Given the description of an element on the screen output the (x, y) to click on. 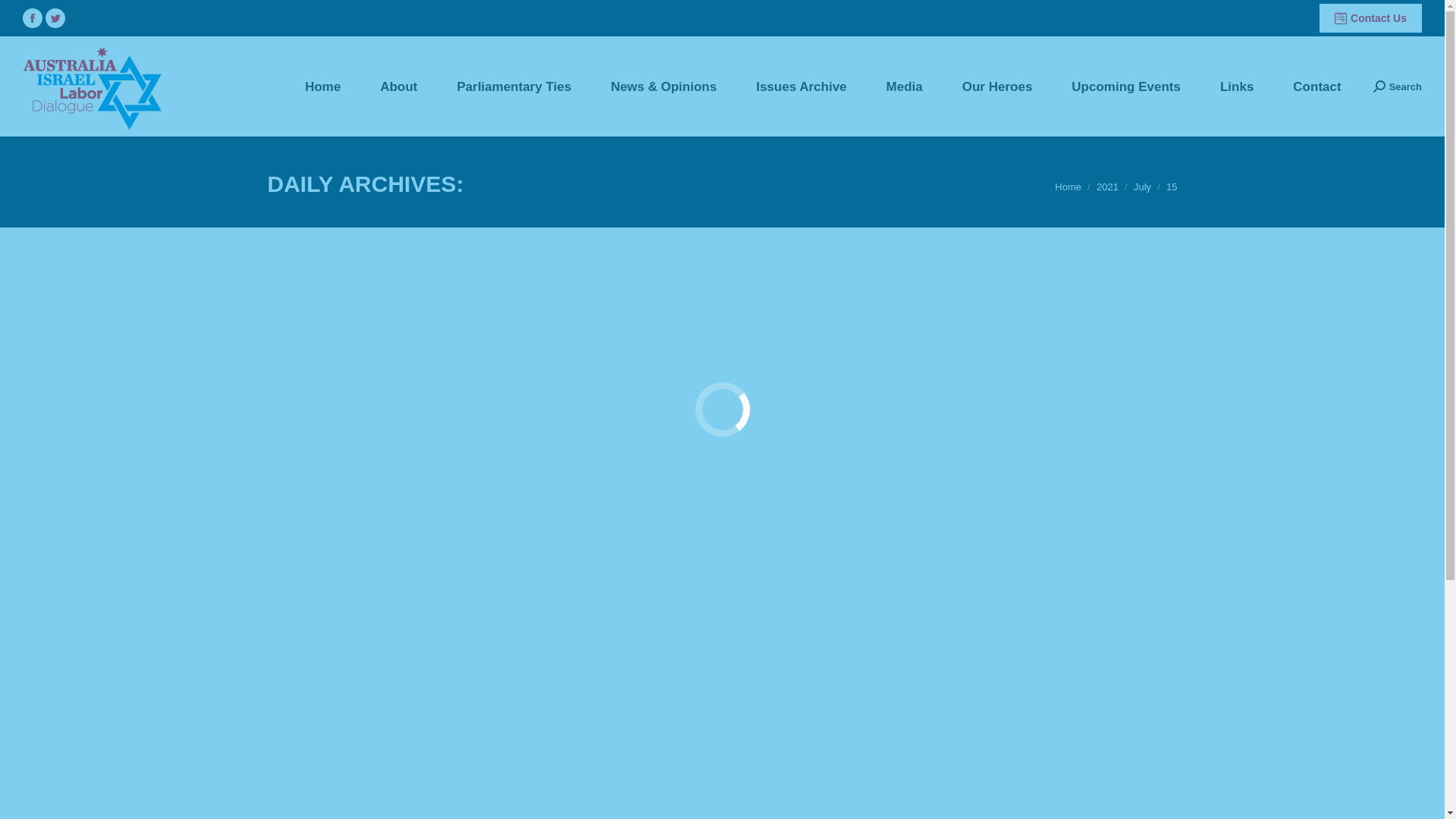
Parliamentary Ties Element type: text (513, 86)
July Element type: text (1142, 186)
News & Opinions Element type: text (663, 86)
Contact Us Element type: text (1370, 17)
Links Element type: text (1236, 86)
Home Element type: text (322, 86)
Our Heroes Element type: text (997, 86)
About Element type: text (398, 86)
Search Element type: text (1397, 86)
Twitter page opens in new window Element type: text (55, 18)
Upcoming Events Element type: text (1125, 86)
Issues Archive Element type: text (800, 86)
Home Element type: text (1067, 186)
Media Element type: text (904, 86)
Contact Element type: text (1316, 86)
Facebook page opens in new window Element type: text (32, 18)
2021 Element type: text (1107, 186)
Go! Element type: text (24, 15)
